Given the description of an element on the screen output the (x, y) to click on. 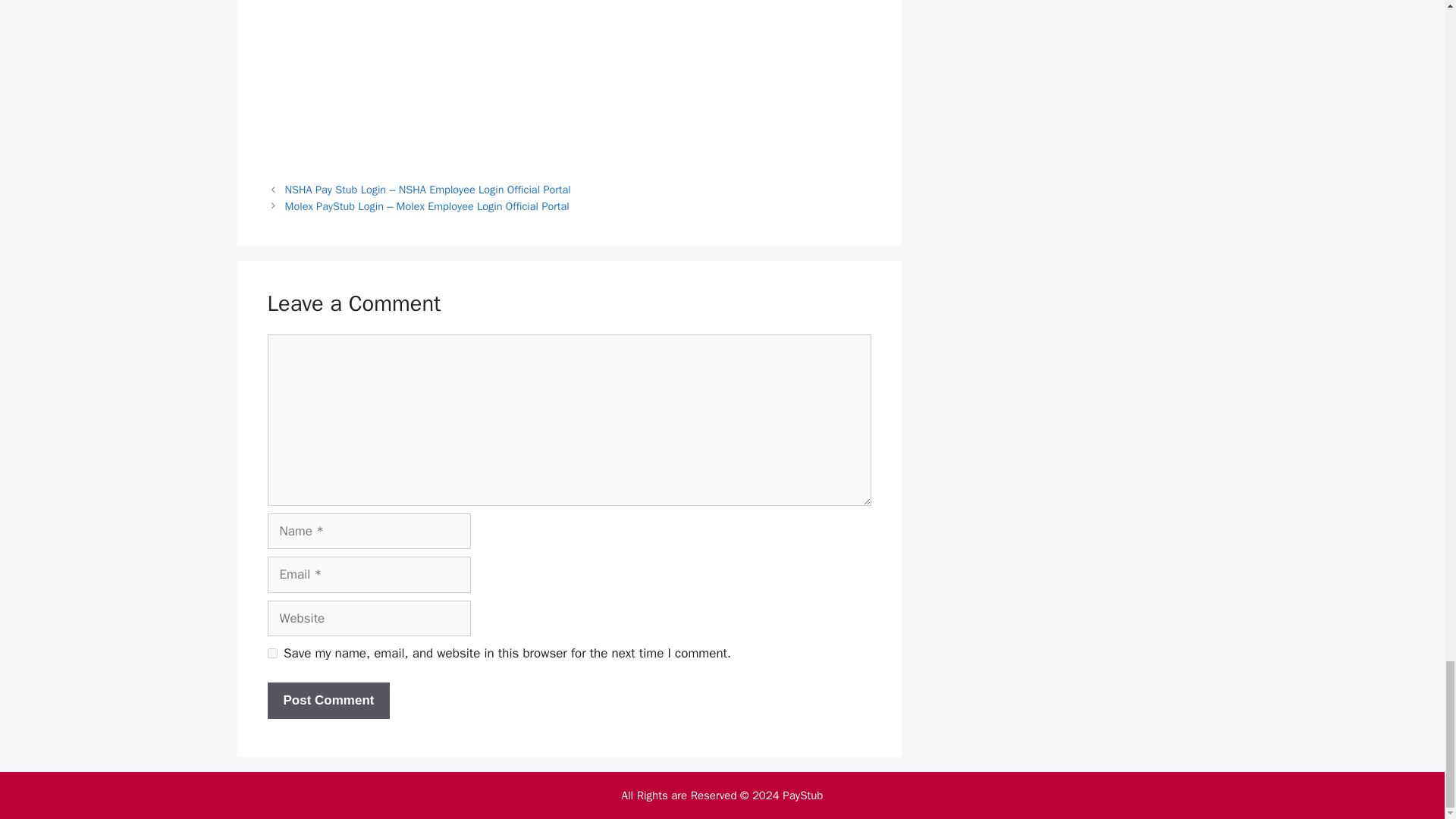
Post Comment (328, 700)
Post Comment (328, 700)
yes (271, 653)
